Given the description of an element on the screen output the (x, y) to click on. 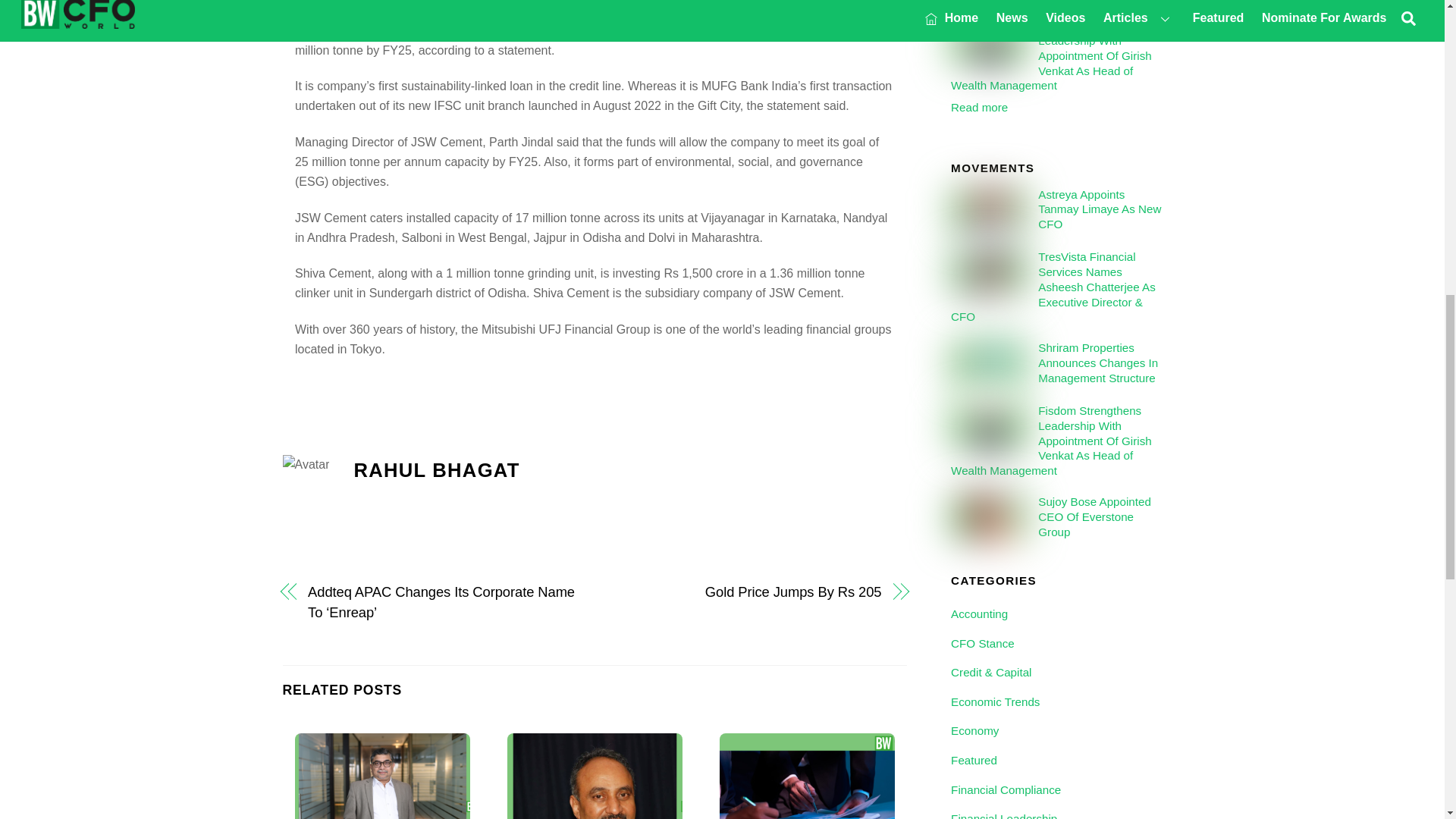
Asheesh Chatterjee (988, 271)
Tanmay Limaye (988, 209)
Shriram Properties (988, 362)
Gold Price Jumps By Rs 205 (746, 591)
Harish Agarwal (382, 776)
